Given the description of an element on the screen output the (x, y) to click on. 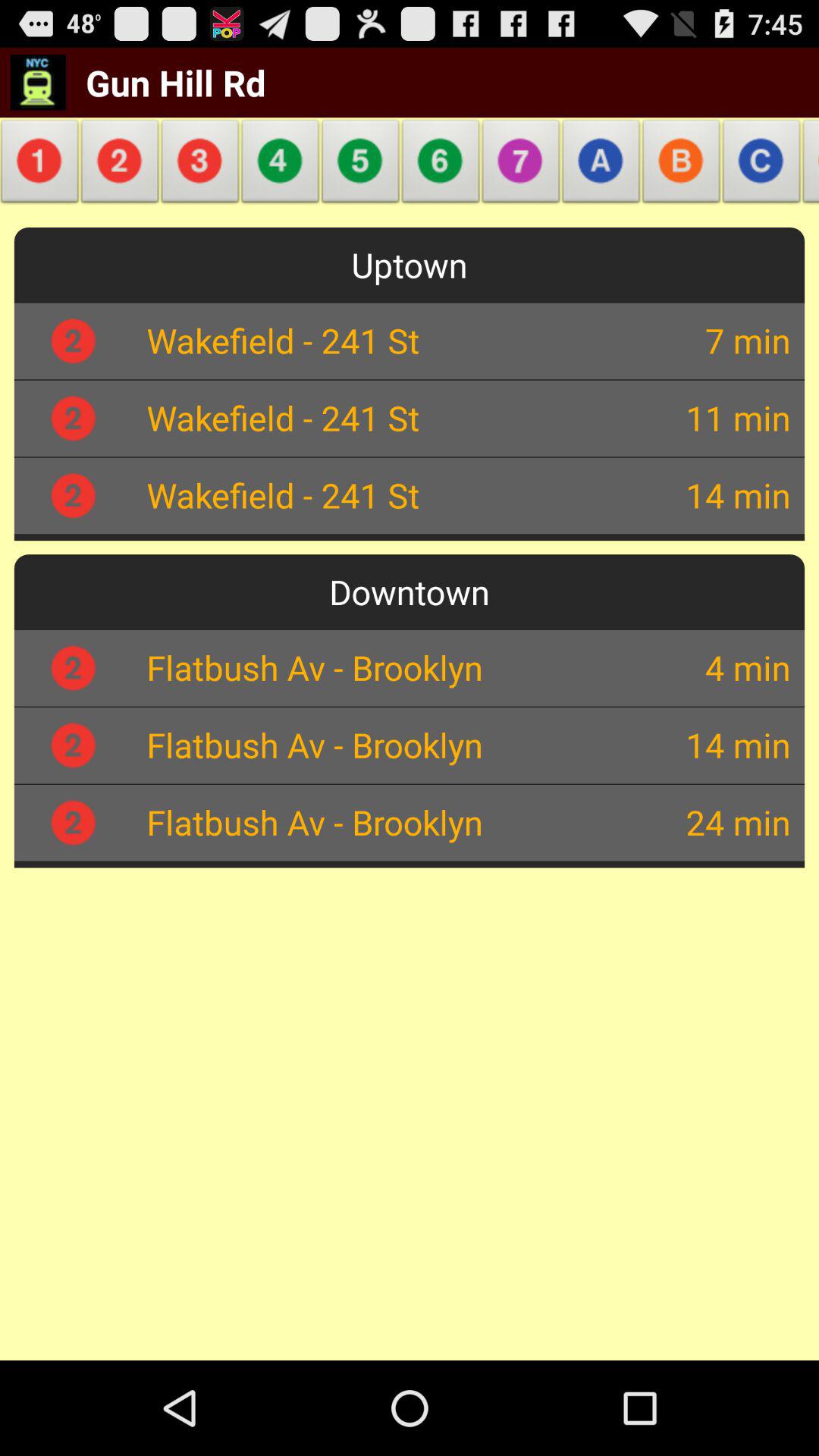
select downtown app (409, 591)
